Given the description of an element on the screen output the (x, y) to click on. 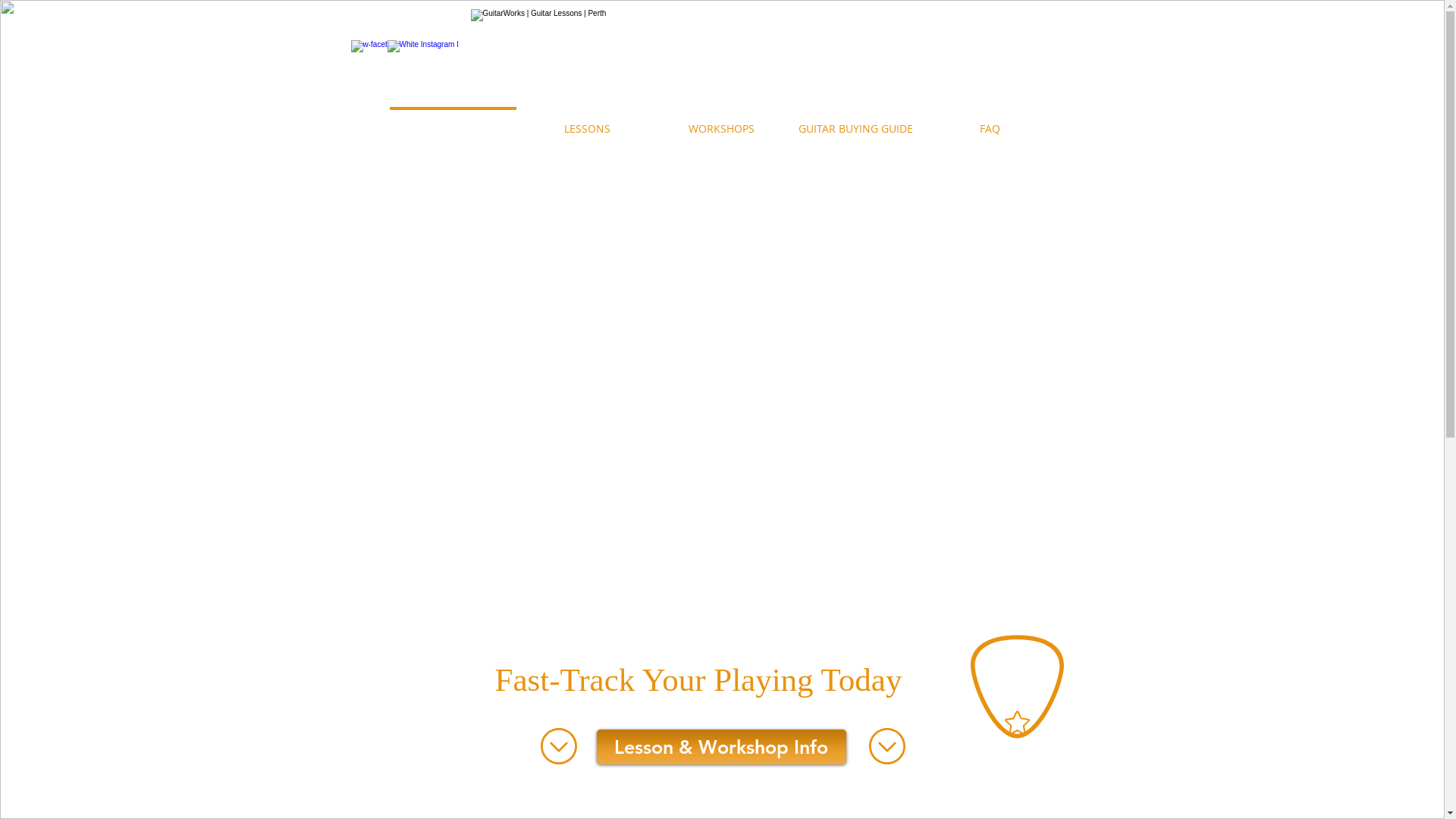
Lesson & Workshop Info Element type: text (720, 746)
HOME Element type: text (452, 121)
Embedded Content Element type: hover (401, 681)
LESSONS Element type: text (587, 121)
GUITAR BUYING GUIDE Element type: text (855, 121)
Guitar Element type: text (1017, 672)
FAQ Element type: text (989, 121)
WORKSHOPS Element type: text (720, 121)
